Given the description of an element on the screen output the (x, y) to click on. 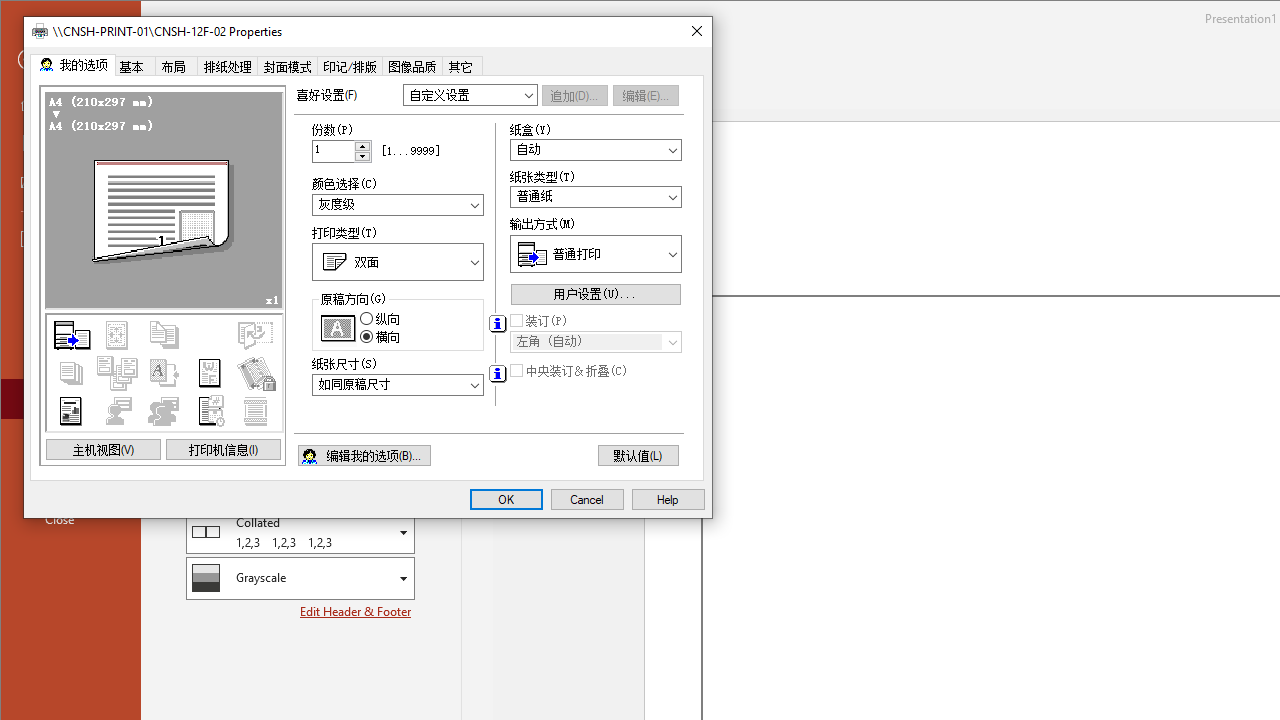
AutomationID: 1012 (363, 150)
AutomationID: 1040 (397, 384)
AutomationID: 1833 (397, 204)
AutomationID: 2197 (497, 323)
Color/Grayscale (299, 578)
Less (363, 156)
Open (672, 341)
AutomationID: 2200 (497, 373)
